Given the description of an element on the screen output the (x, y) to click on. 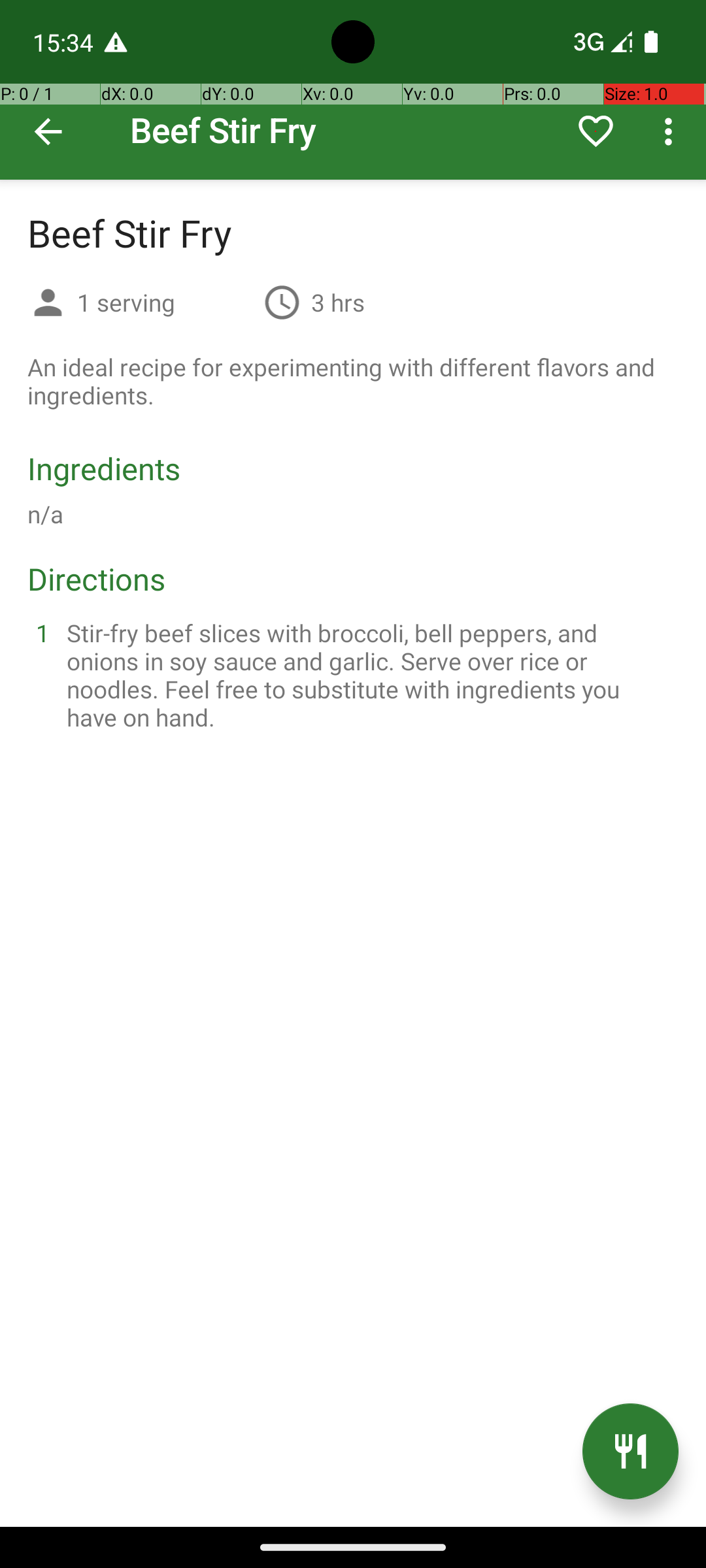
n/a Element type: android.widget.TextView (45, 513)
Stir-fry beef slices with broccoli, bell peppers, and onions in soy sauce and garlic. Serve over rice or noodles. Feel free to substitute with ingredients you have on hand. Element type: android.widget.TextView (368, 674)
